Given the description of an element on the screen output the (x, y) to click on. 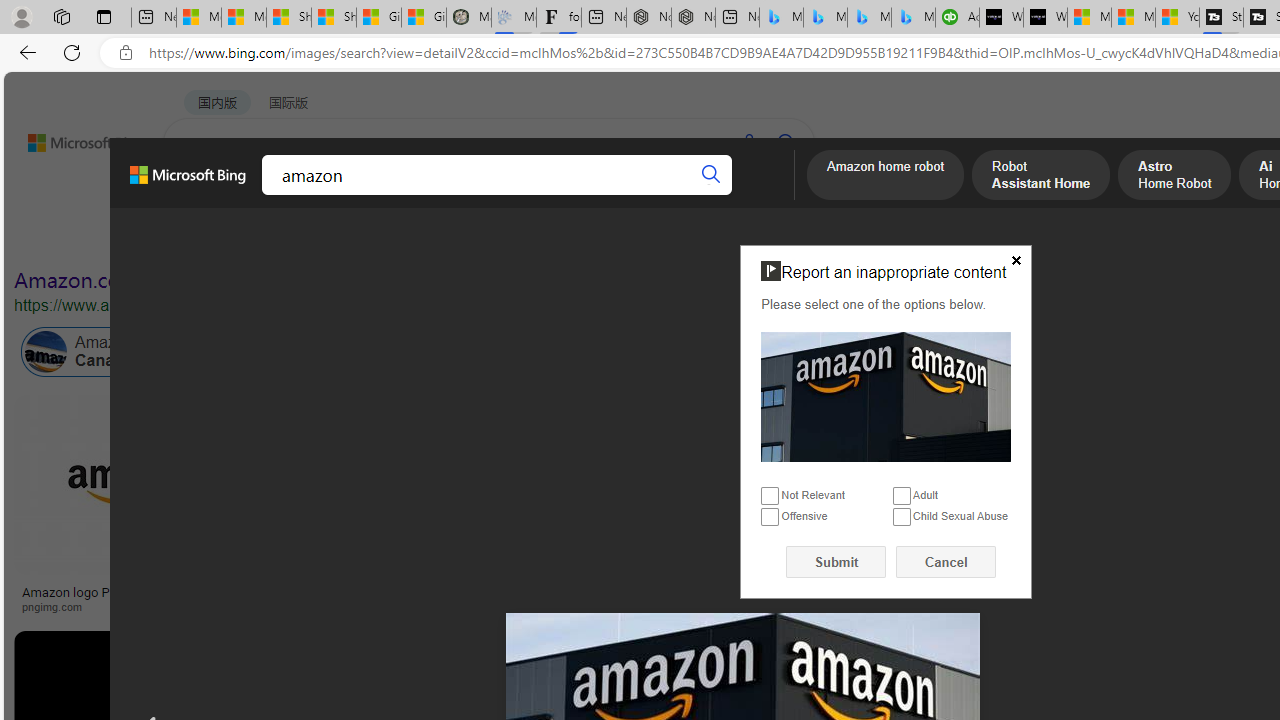
Search using voice (748, 142)
Amazon home robot (885, 177)
Amazon.com. Spend less. Smile more. (195, 280)
Adult (901, 496)
Layout (443, 237)
Manatee Mortality Statistics | FWC (468, 17)
Listen: What's next for Amazon?usatoday.comSave (713, 508)
Amazon India (893, 351)
mytotalretail.com (319, 605)
Image size (221, 237)
